Given the description of an element on the screen output the (x, y) to click on. 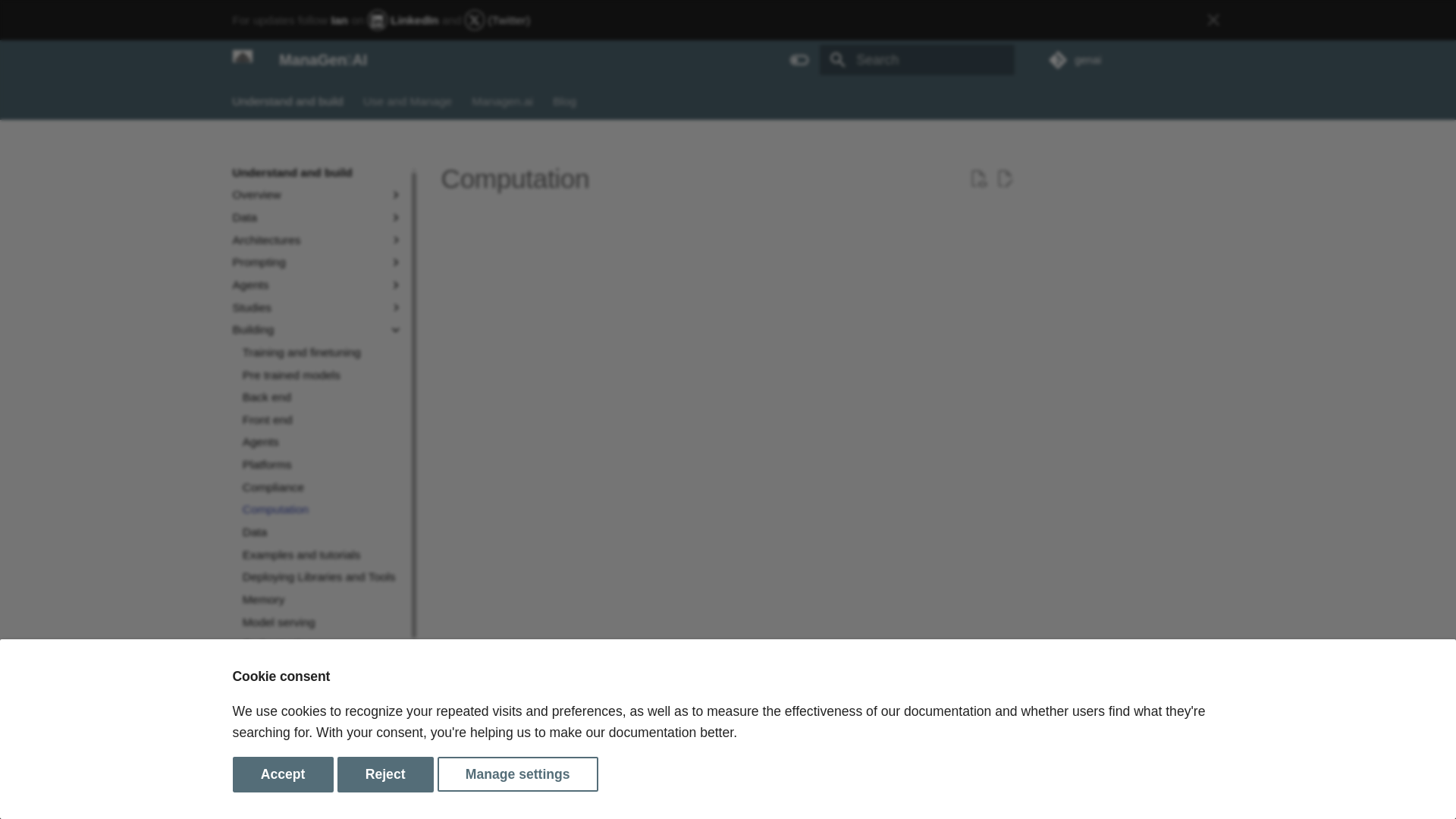
www.instagram.com (1213, 791)
github.com (1123, 791)
Blog (564, 100)
Use and Manage (406, 100)
Understand and build (287, 100)
www.linkedin.com (1183, 791)
Switch to dark mode (799, 59)
LinkedIn (405, 19)
Architectures (306, 240)
Go to repository (1135, 60)
